Given the description of an element on the screen output the (x, y) to click on. 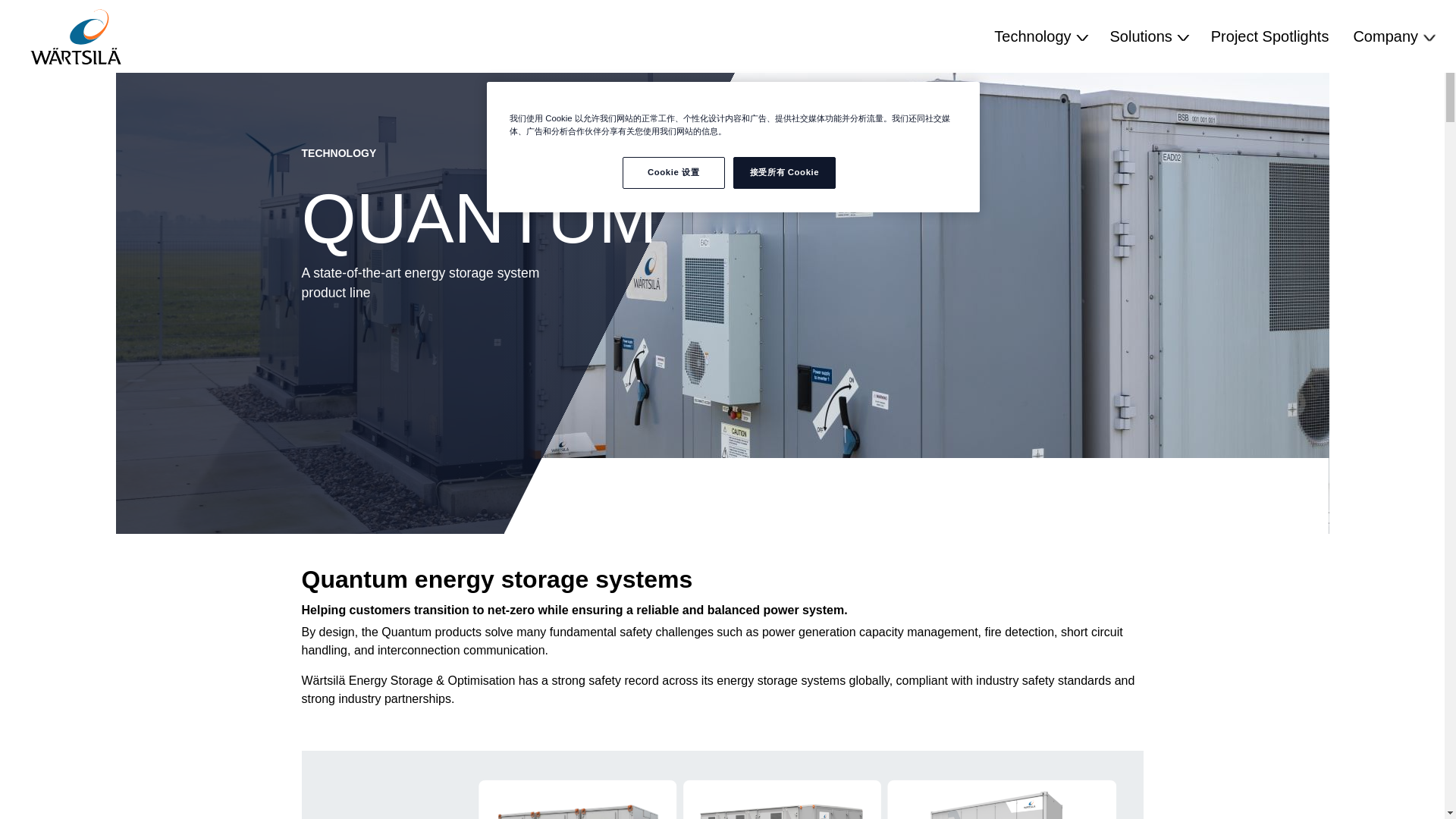
Project Spotlights (1270, 36)
Technology (1039, 36)
Solutions (1147, 36)
Company (1392, 36)
